Given the description of an element on the screen output the (x, y) to click on. 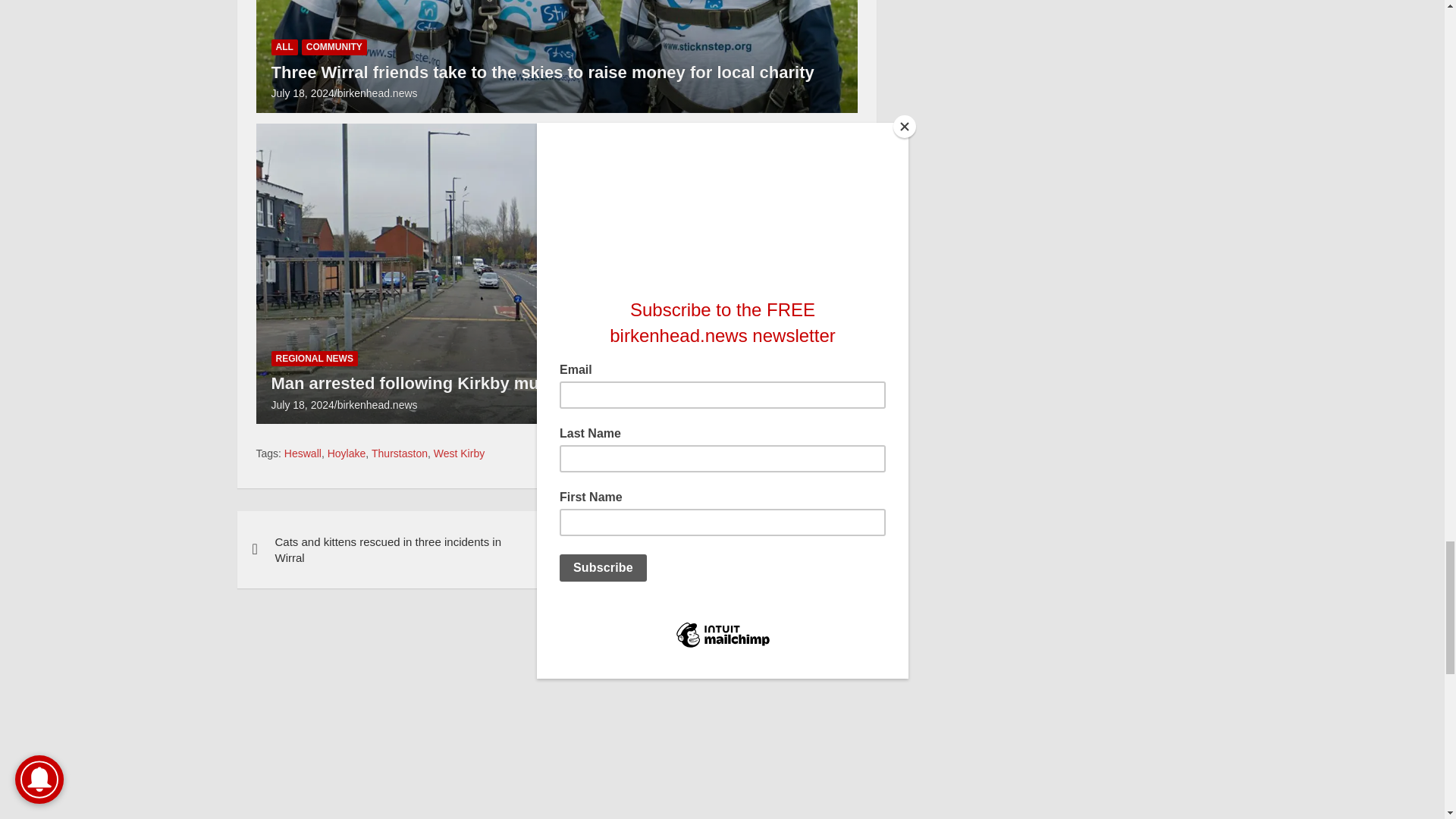
Man arrested following Kirkby murder (302, 404)
